Given the description of an element on the screen output the (x, y) to click on. 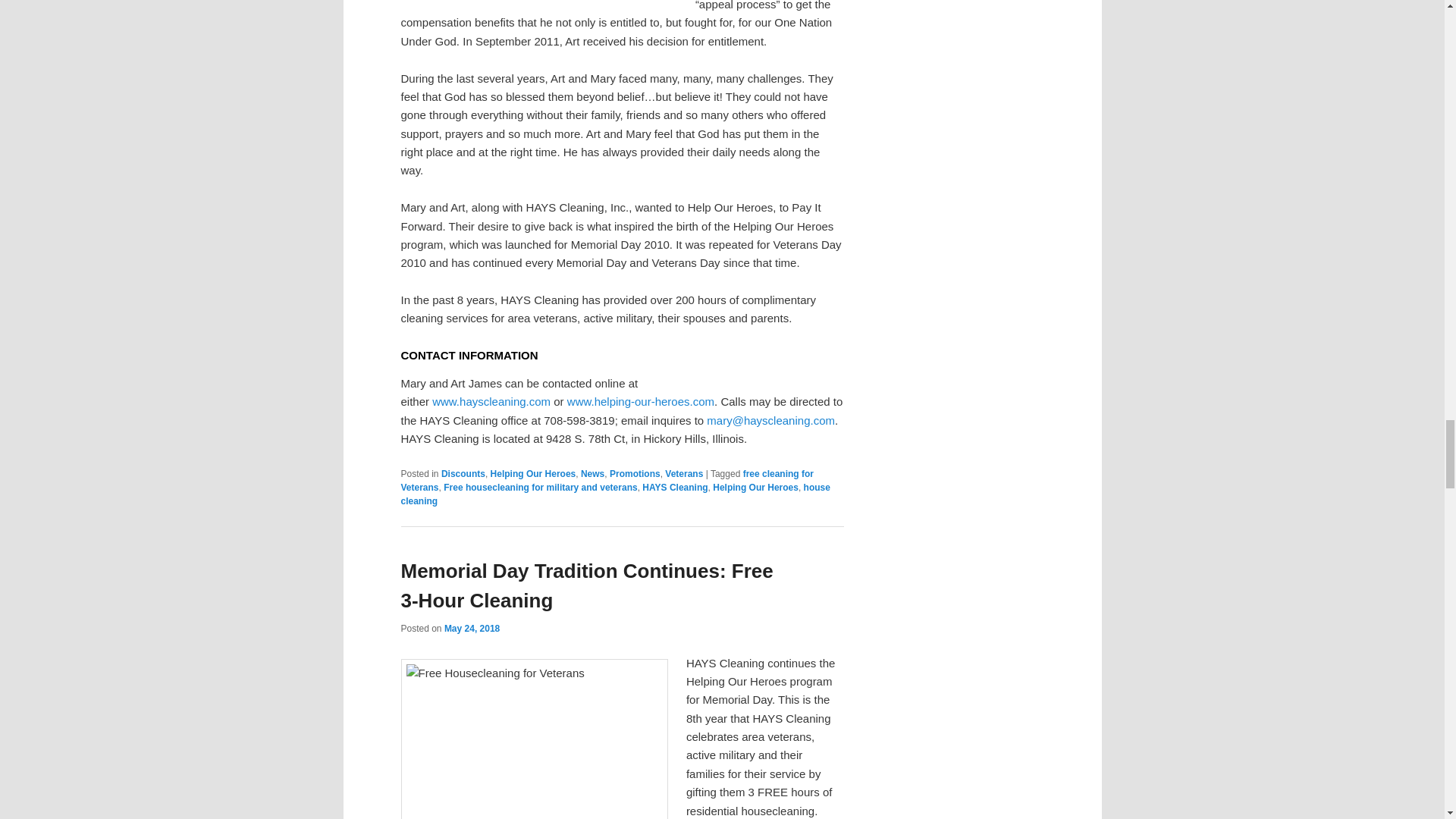
12:12 am (471, 628)
